Given the description of an element on the screen output the (x, y) to click on. 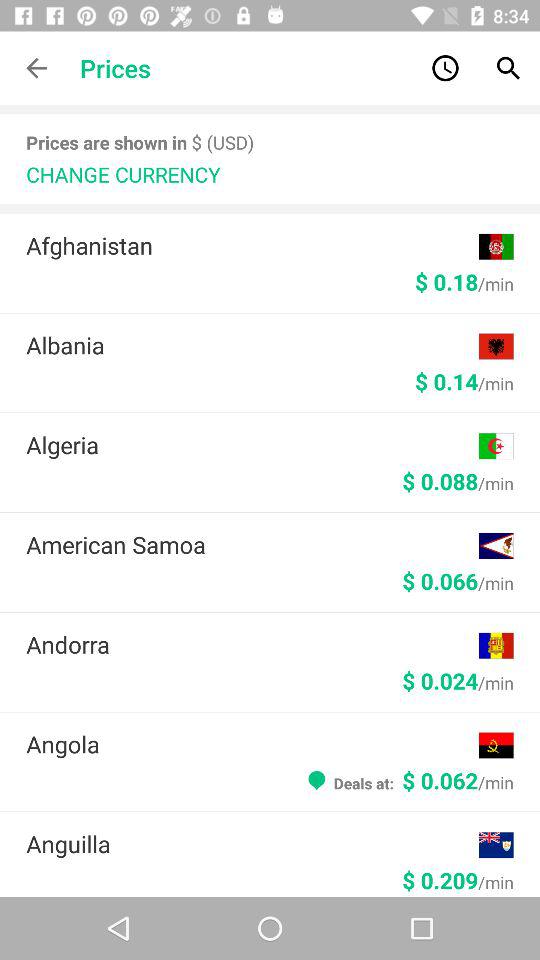
choose the icon above $ 0.024/min (252, 644)
